Given the description of an element on the screen output the (x, y) to click on. 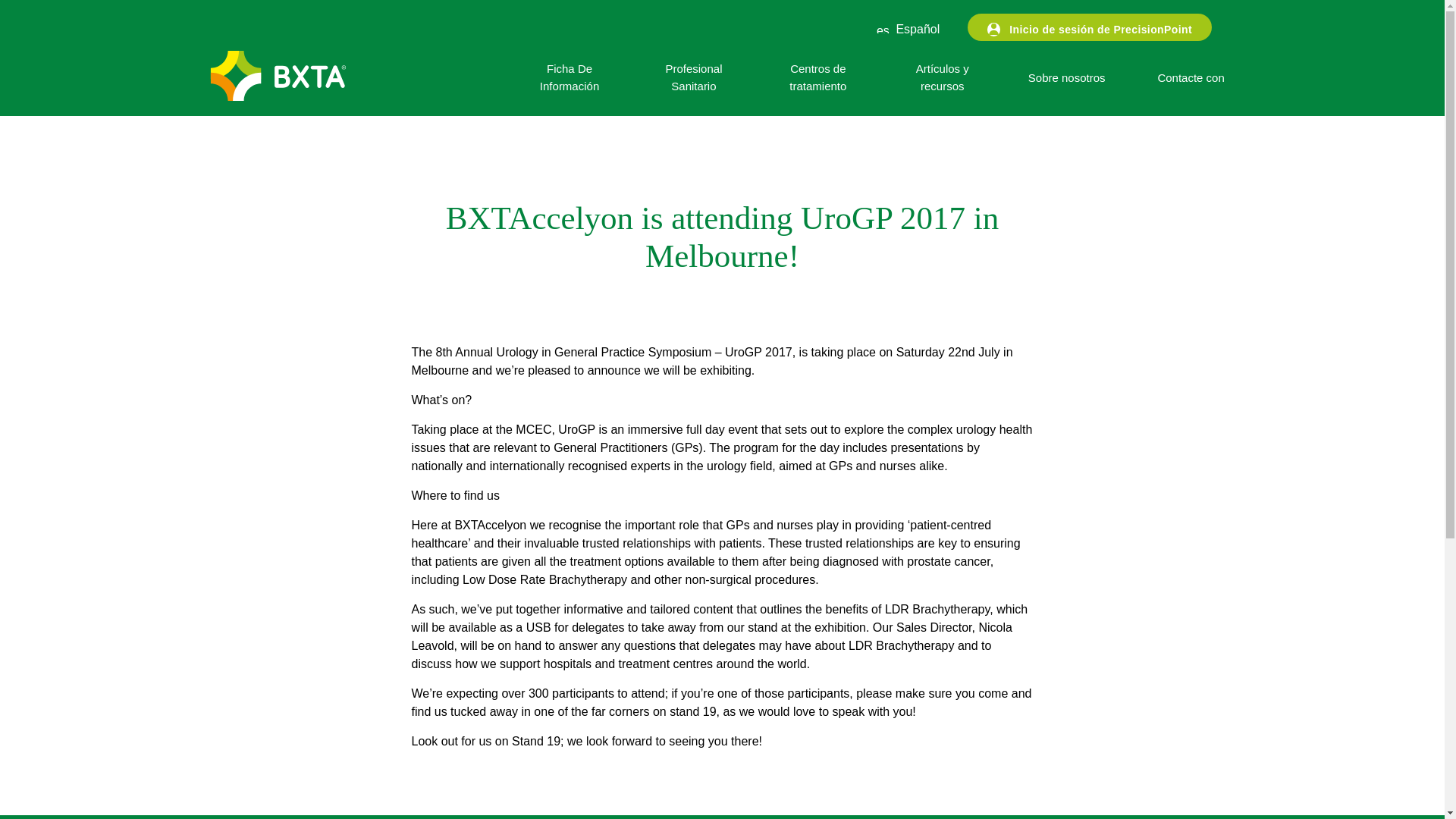
Sobre nosotros (1066, 77)
Profesional Sanitario (693, 77)
Centros de tratamiento (817, 77)
Contacte con (1190, 77)
